Given the description of an element on the screen output the (x, y) to click on. 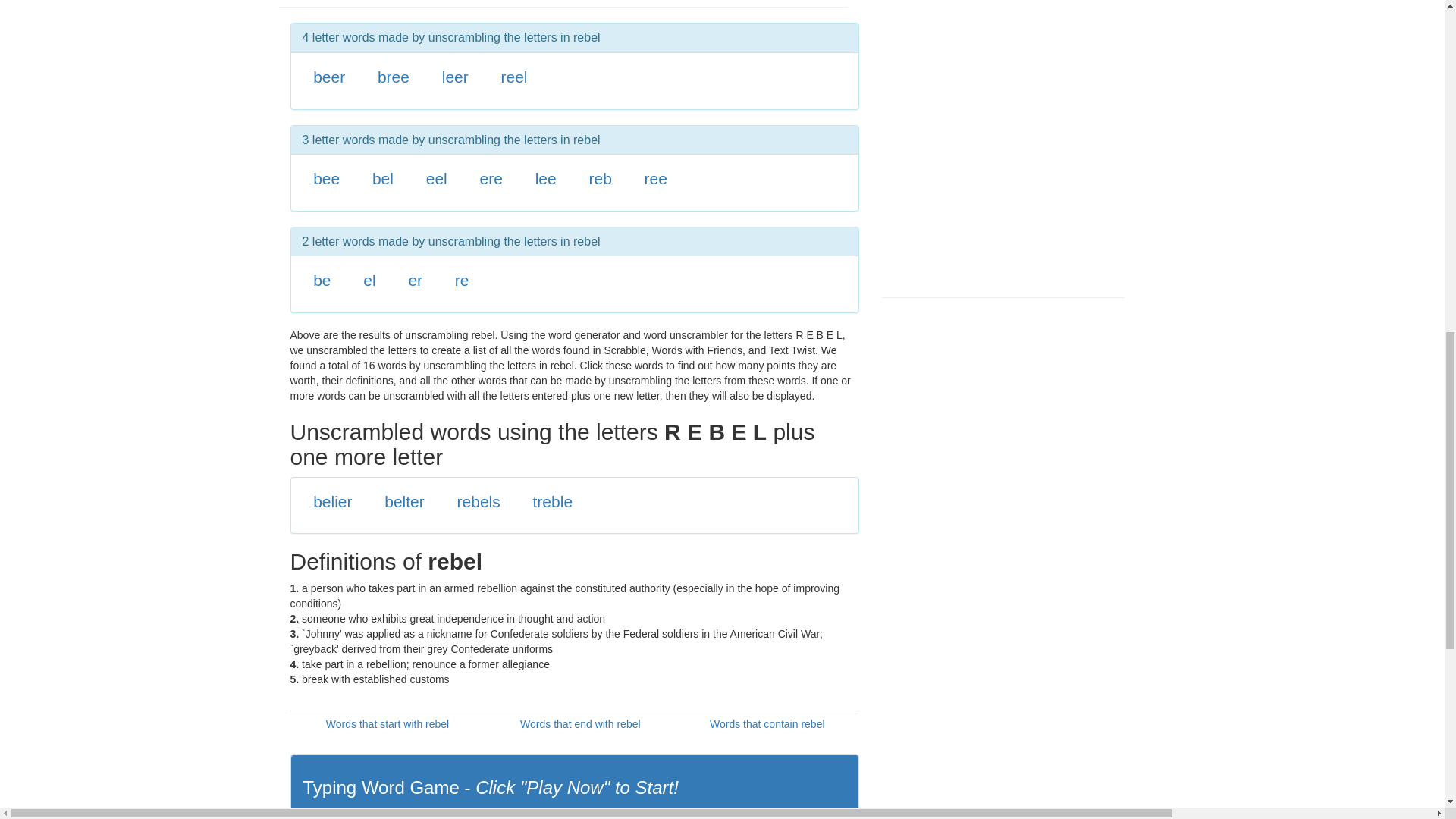
bree (393, 76)
Words that end with rebel (579, 724)
bee (326, 178)
reel (513, 76)
Words that contain rebel (767, 724)
beer (329, 76)
bel (382, 178)
treble (552, 501)
Words that start with rebel (387, 724)
be (321, 280)
eel (436, 178)
belter (404, 501)
belier (332, 501)
reb (599, 178)
ree (655, 178)
